Given the description of an element on the screen output the (x, y) to click on. 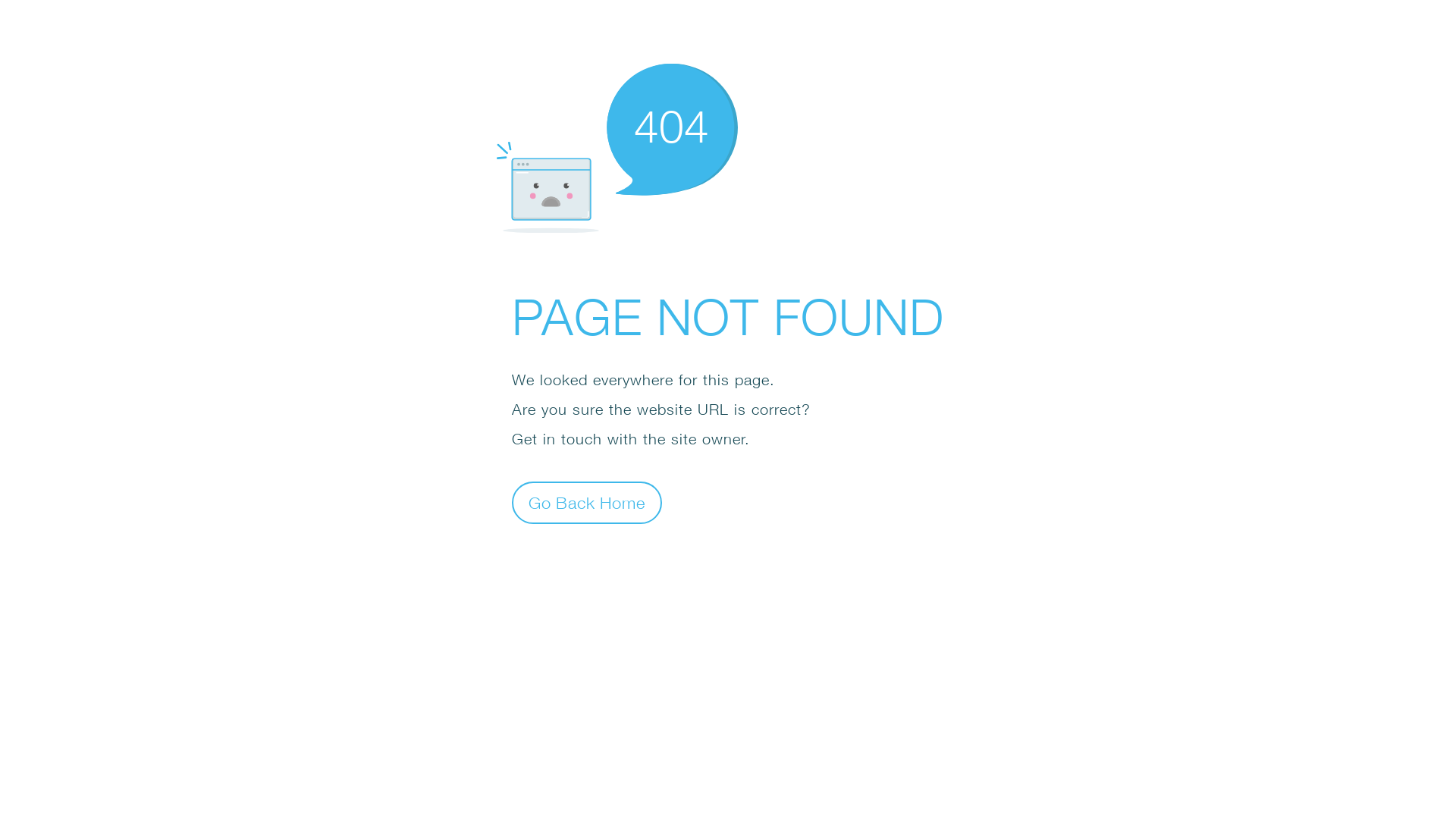
Go Back Home Element type: text (586, 502)
